Given the description of an element on the screen output the (x, y) to click on. 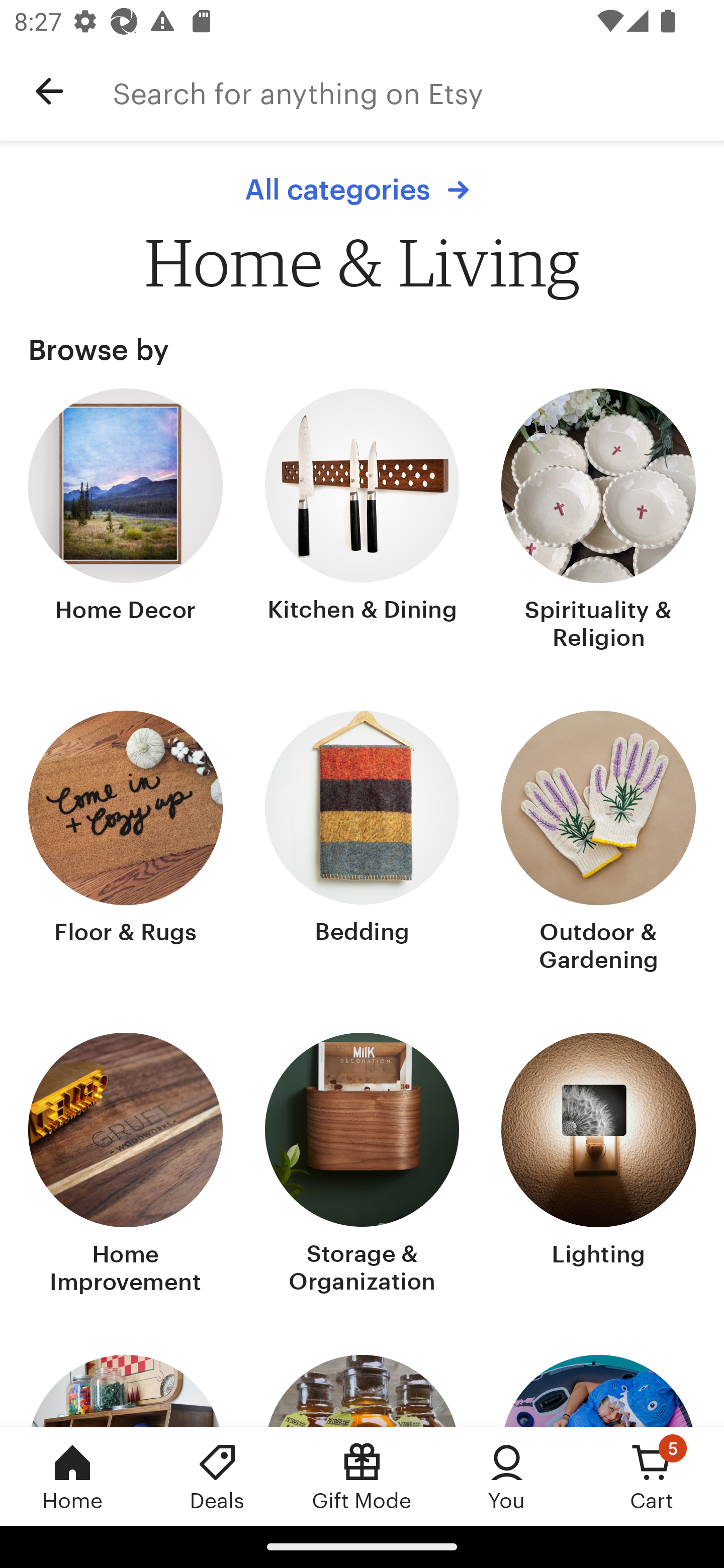
Navigate up (49, 91)
Search for anything on Etsy (418, 91)
All categories (361, 189)
Home Decor (125, 520)
Kitchen & Dining (361, 520)
Spirituality & Religion (598, 520)
Floor & Rugs (125, 843)
Bedding (361, 843)
Outdoor & Gardening (598, 843)
Home Improvement (125, 1165)
Storage & Organization (361, 1165)
Lighting (598, 1165)
Deals (216, 1475)
Gift Mode (361, 1475)
You (506, 1475)
Cart, 5 new notifications Cart (651, 1475)
